Given the description of an element on the screen output the (x, y) to click on. 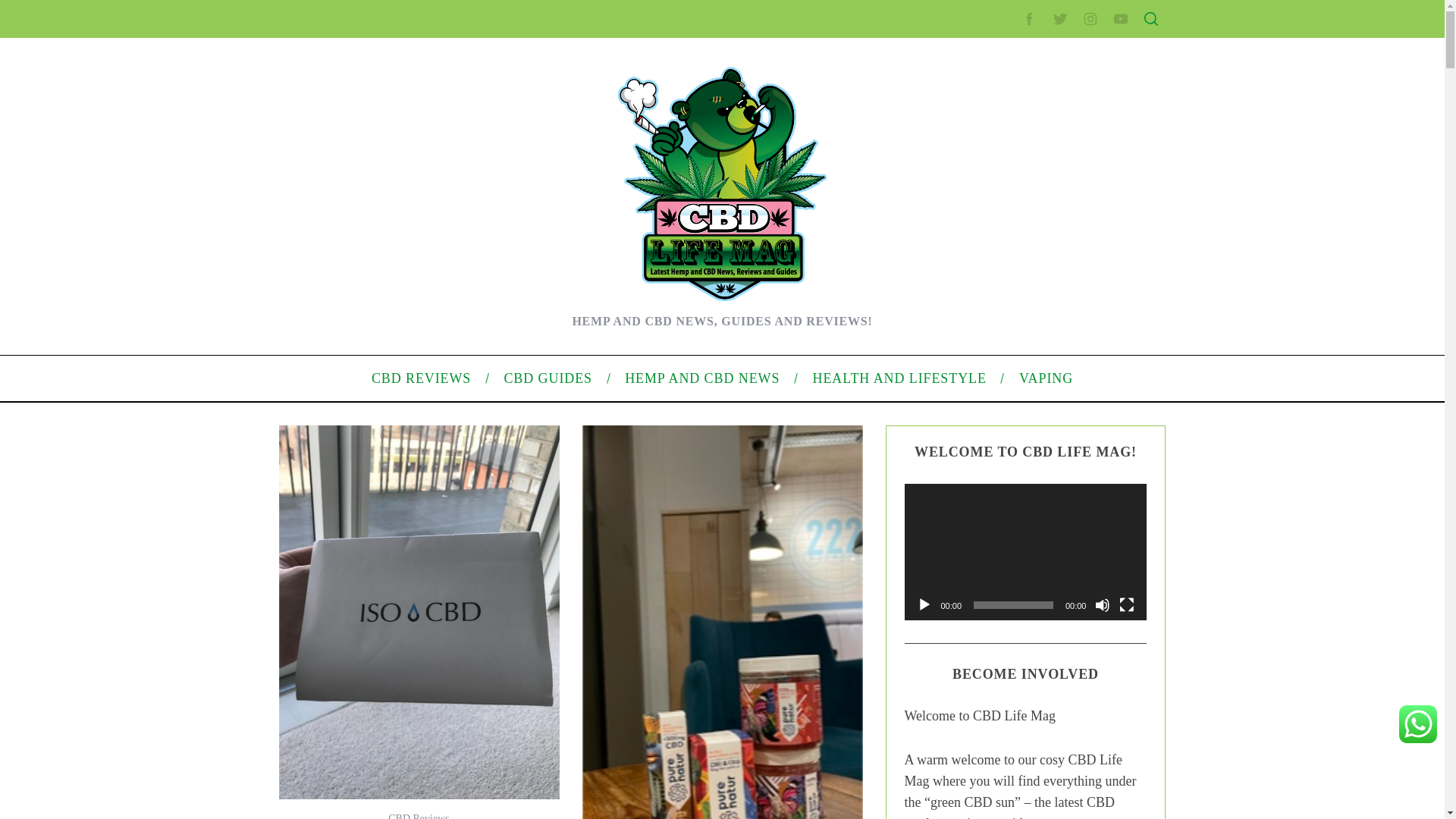
DMCA Policy (996, 282)
Log in (980, 588)
August 2020 (996, 432)
Disclaimer (990, 354)
Blog (976, 510)
Terms of Use (996, 330)
Search (1050, 85)
Search (1050, 85)
RSS (977, 612)
Privacy Policy (999, 306)
CUPCAKEDELIGHTS.CO.UK (433, 28)
try this (789, 702)
Search for: (1049, 47)
Contact Us (991, 258)
ADMINISTRATOR (417, 118)
